Given the description of an element on the screen output the (x, y) to click on. 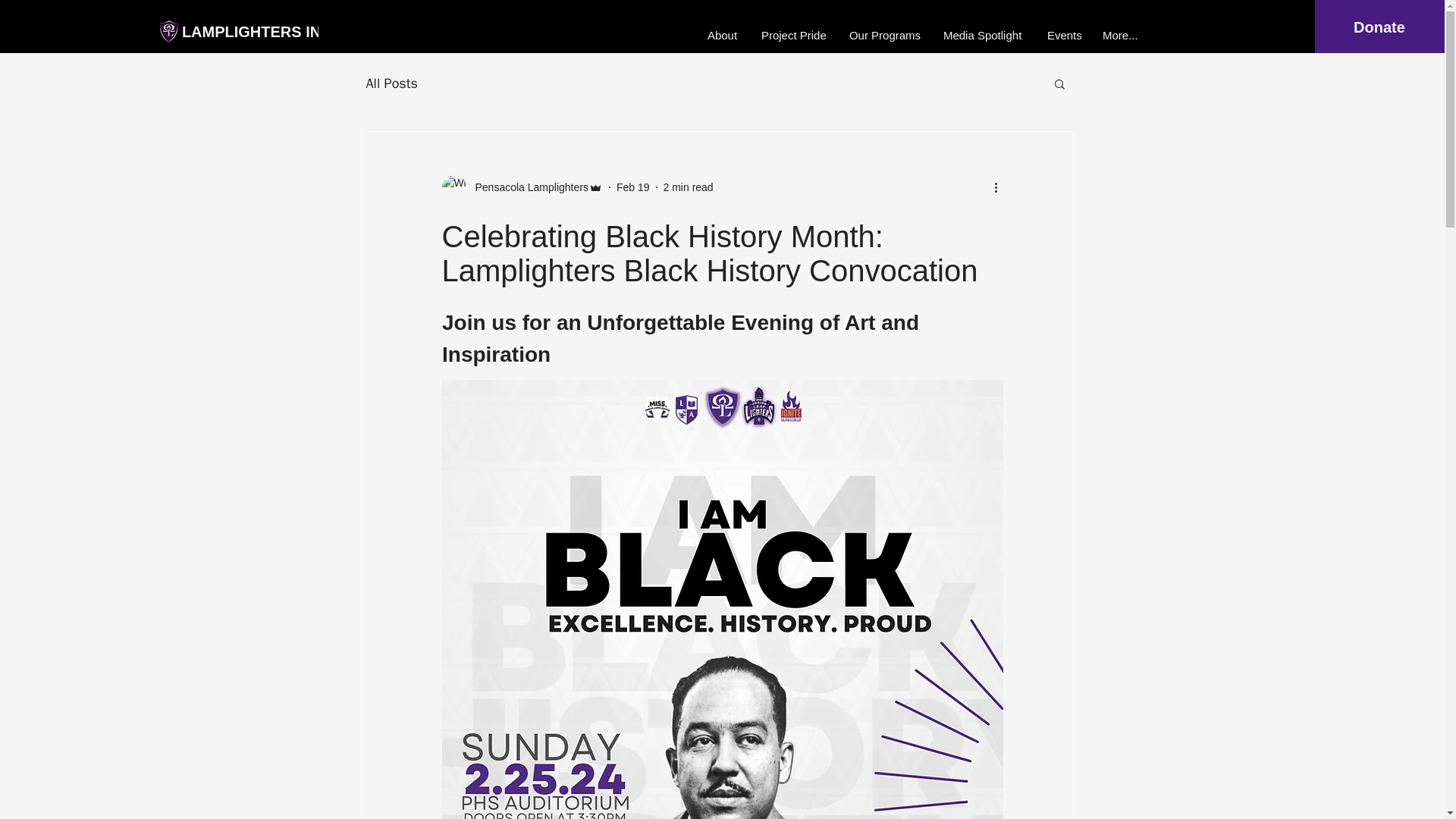
2.png (168, 31)
Feb 19 (632, 186)
Pensacola Lamplighters (521, 187)
2 min read (688, 186)
Events (1062, 35)
All Posts (390, 83)
Project Pride (793, 35)
LAMPLIGHTERS INC. (259, 31)
Our Programs (884, 35)
Media Spotlight (983, 35)
